Given the description of an element on the screen output the (x, y) to click on. 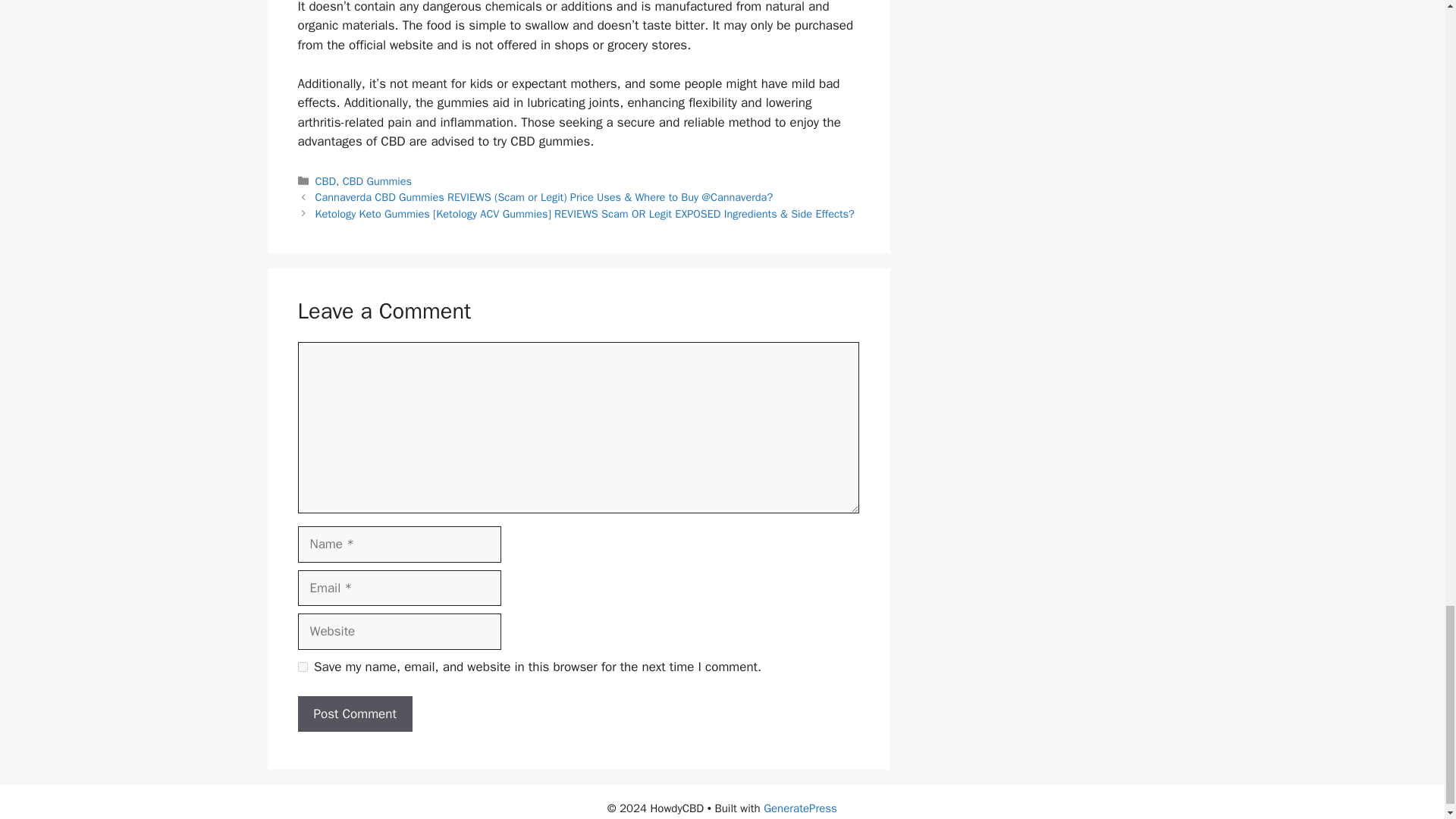
GeneratePress (799, 807)
Post Comment (354, 714)
CBD Gummies (377, 181)
CBD (325, 181)
yes (302, 666)
Post Comment (354, 714)
